Given the description of an element on the screen output the (x, y) to click on. 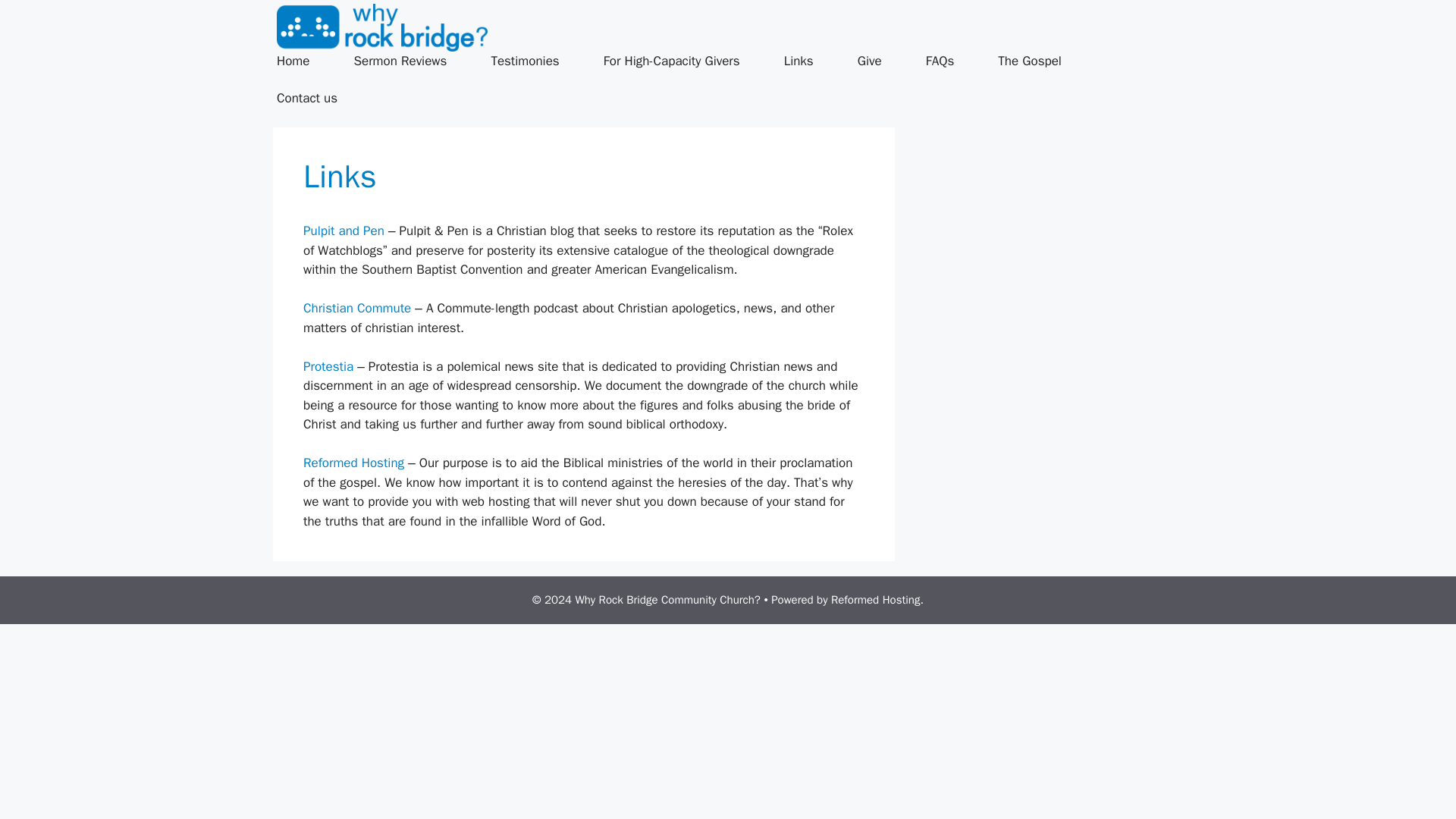
Testimonies (537, 61)
The Gospel (1042, 61)
Home (305, 61)
FAQs (952, 61)
Contact us (319, 98)
Protestia (327, 366)
Give (882, 61)
Pulpit and Pen (343, 230)
Reformed Hosting (353, 462)
why rock bridge? (381, 27)
